Given the description of an element on the screen output the (x, y) to click on. 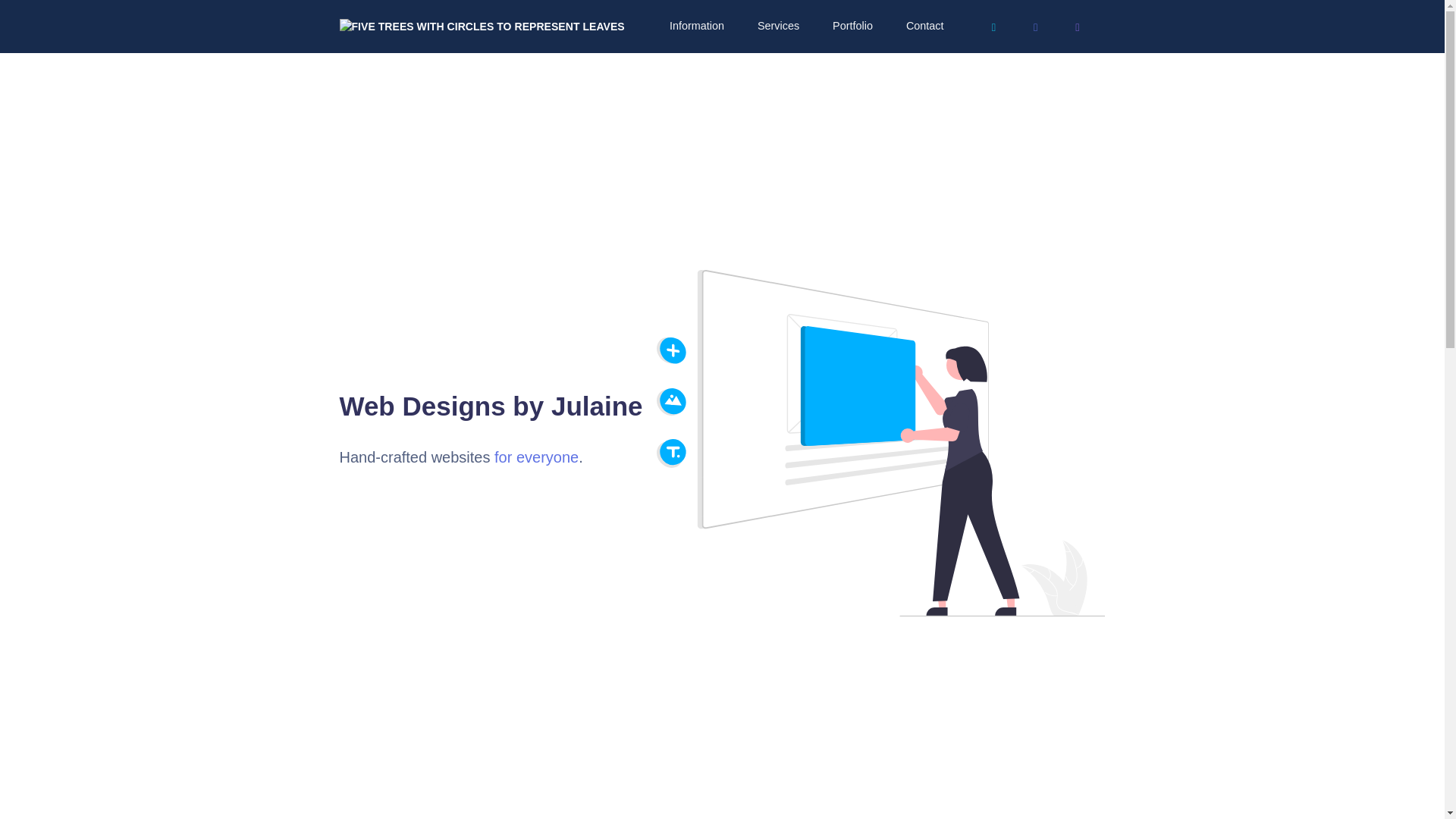
Services (776, 25)
Portfolio (850, 25)
Information (694, 25)
Contact (923, 25)
